Given the description of an element on the screen output the (x, y) to click on. 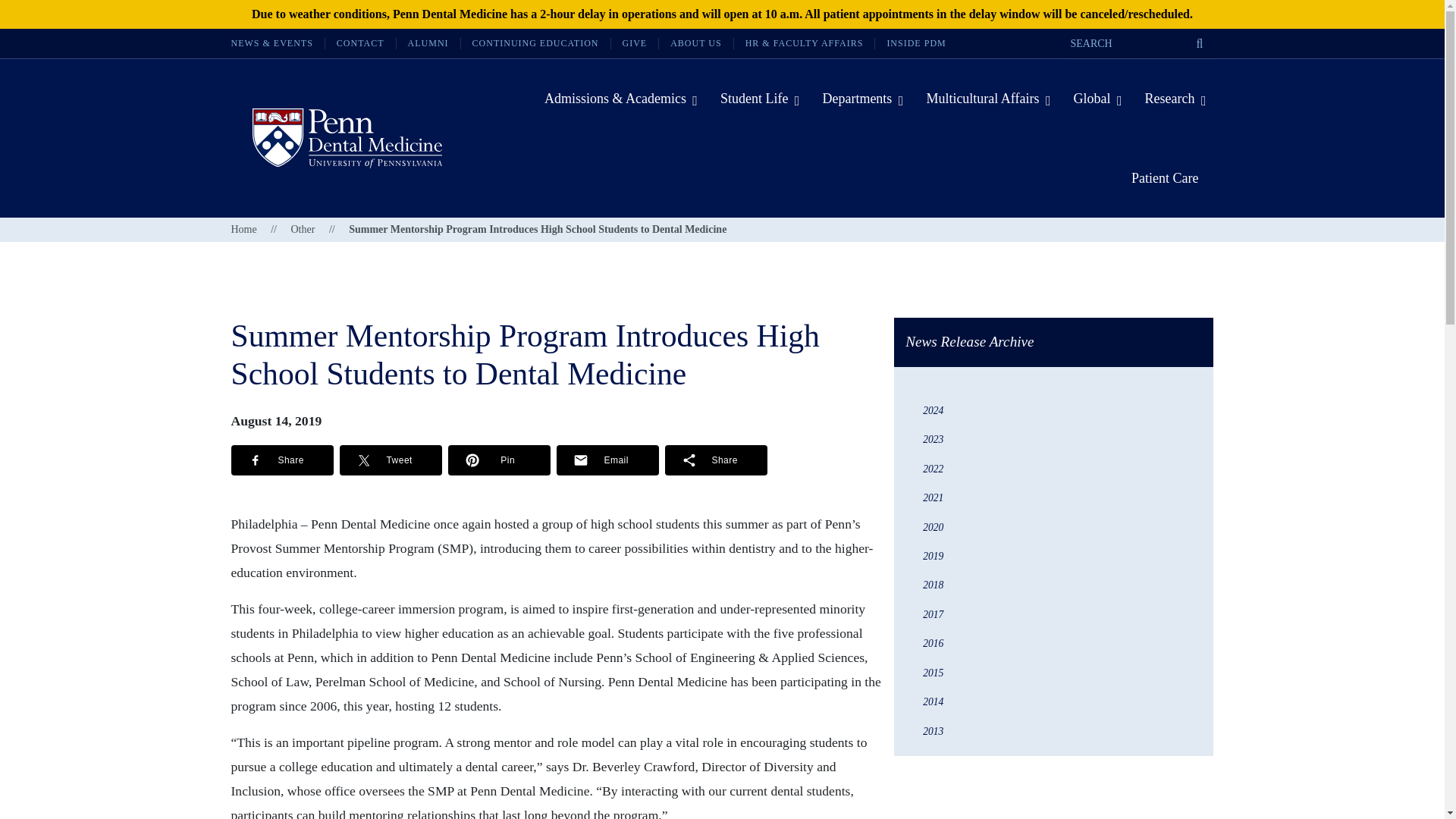
INSIDE PDM (915, 42)
ABOUT US (694, 42)
ALUMNI (427, 42)
CONTACT (360, 42)
GIVE (635, 42)
Submit Search (1200, 43)
CONTINUING EDUCATION (534, 42)
